Given the description of an element on the screen output the (x, y) to click on. 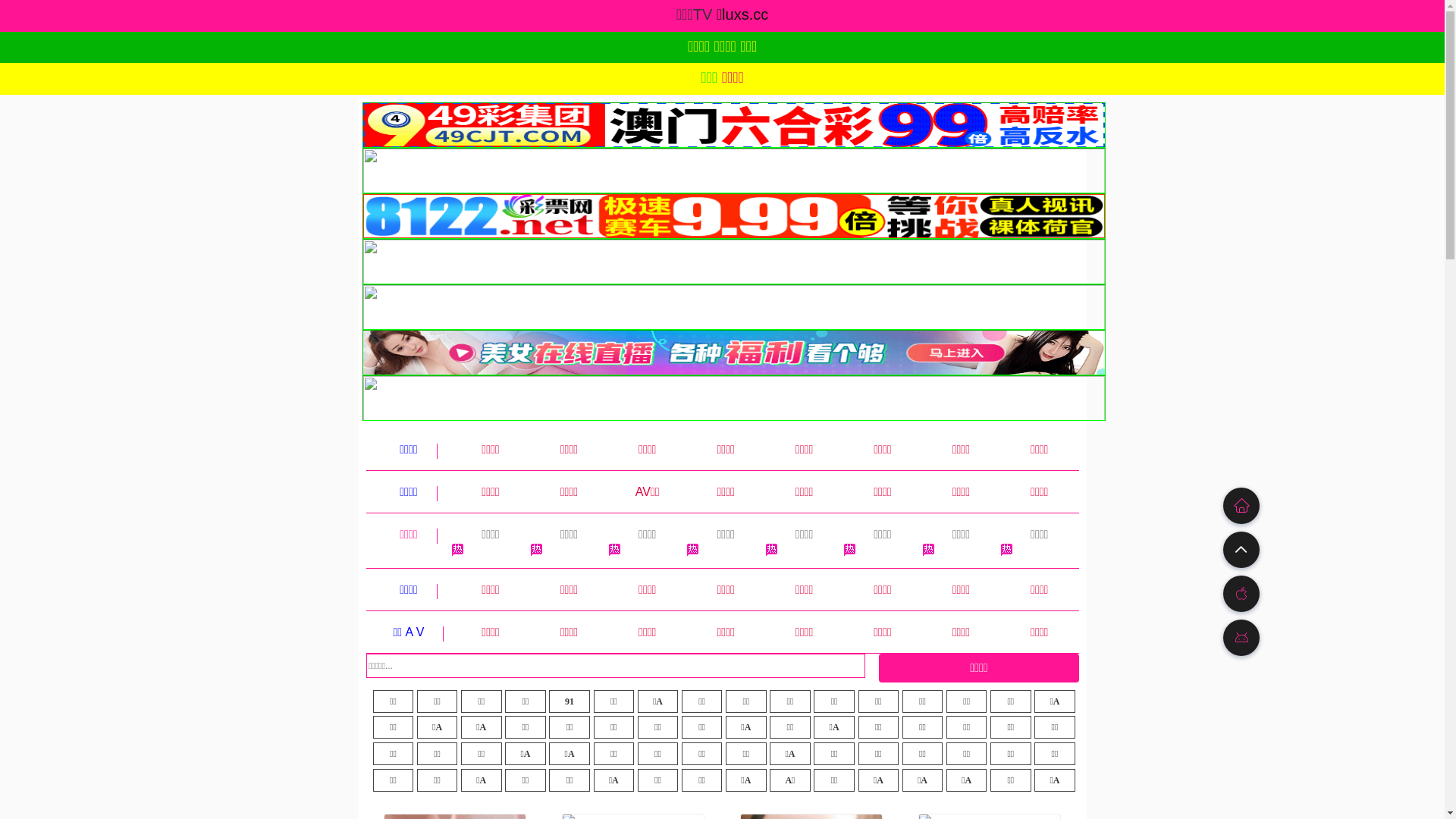
91 Element type: text (569, 701)
